Given the description of an element on the screen output the (x, y) to click on. 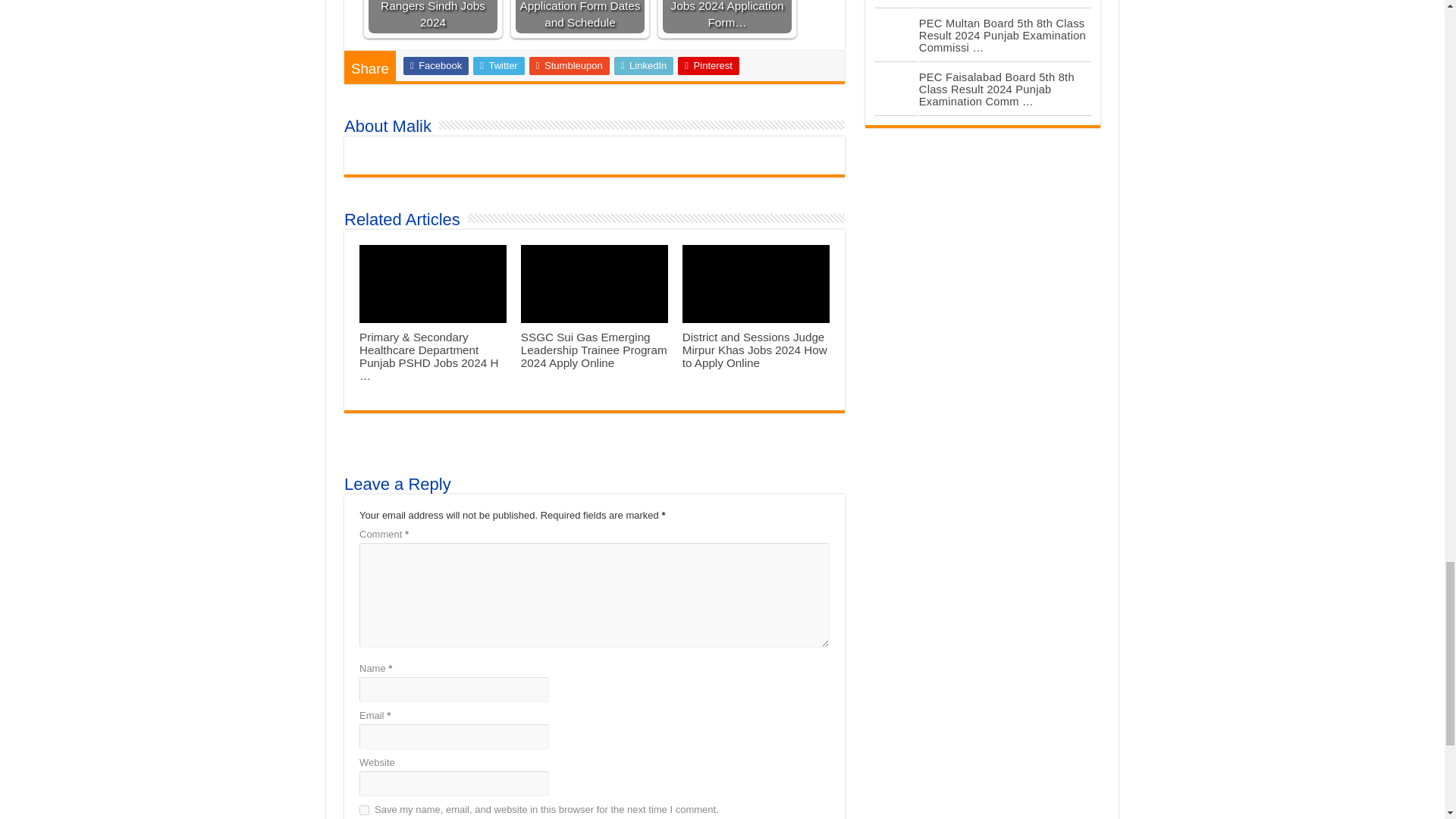
Head Quarter Pakistan Rangers Sindh Jobs 2024 (432, 16)
yes (364, 809)
Pinterest (708, 65)
Stumbleupon (569, 65)
Twitter (498, 65)
Facebook (435, 65)
LinkedIn (644, 65)
